Given the description of an element on the screen output the (x, y) to click on. 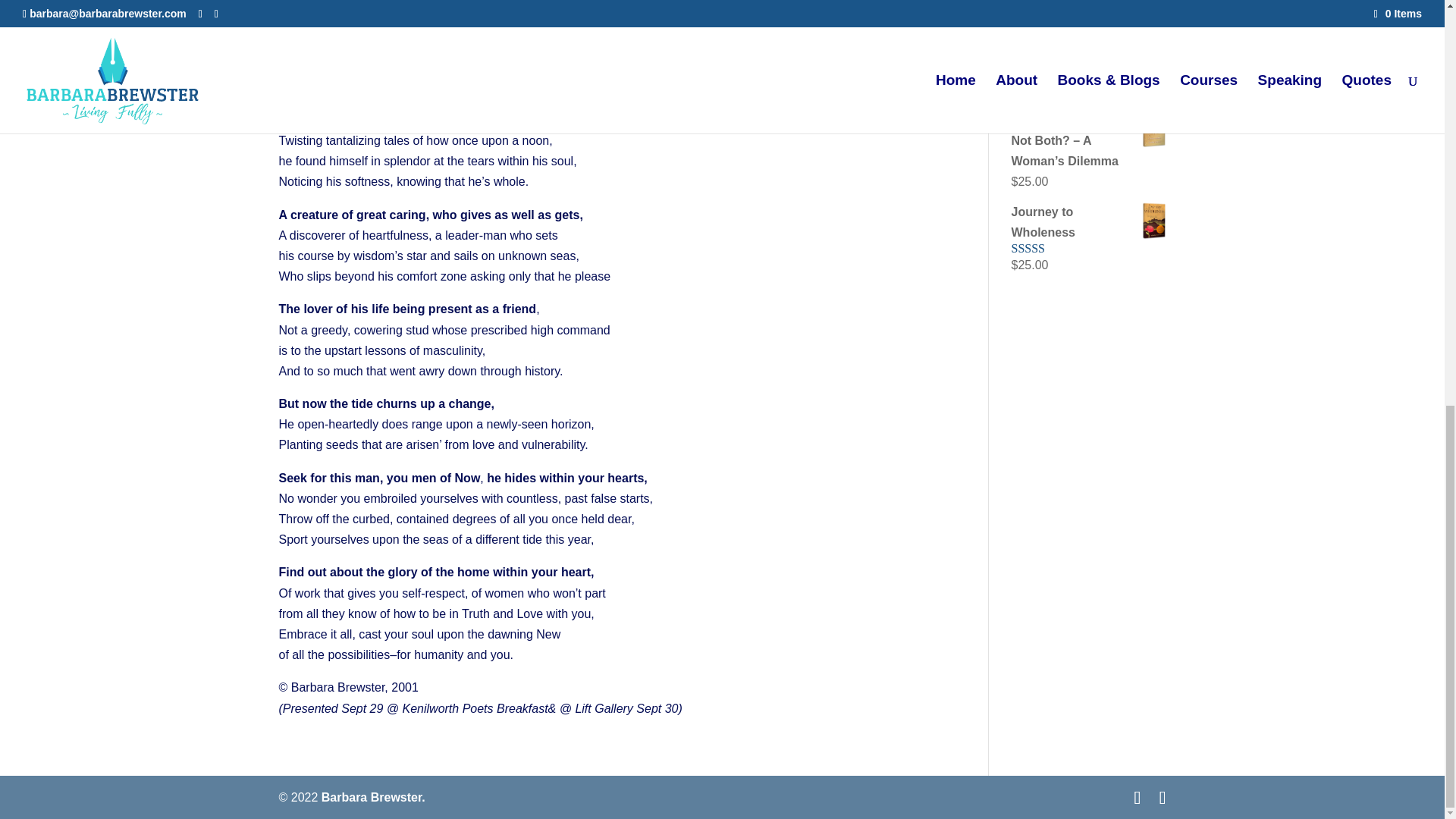
Why Play is Powerful (1068, 5)
Barbara Brewster. (373, 797)
Moving house? Sing this song. (1076, 41)
Journey to Wholeness (1088, 221)
